Given the description of an element on the screen output the (x, y) to click on. 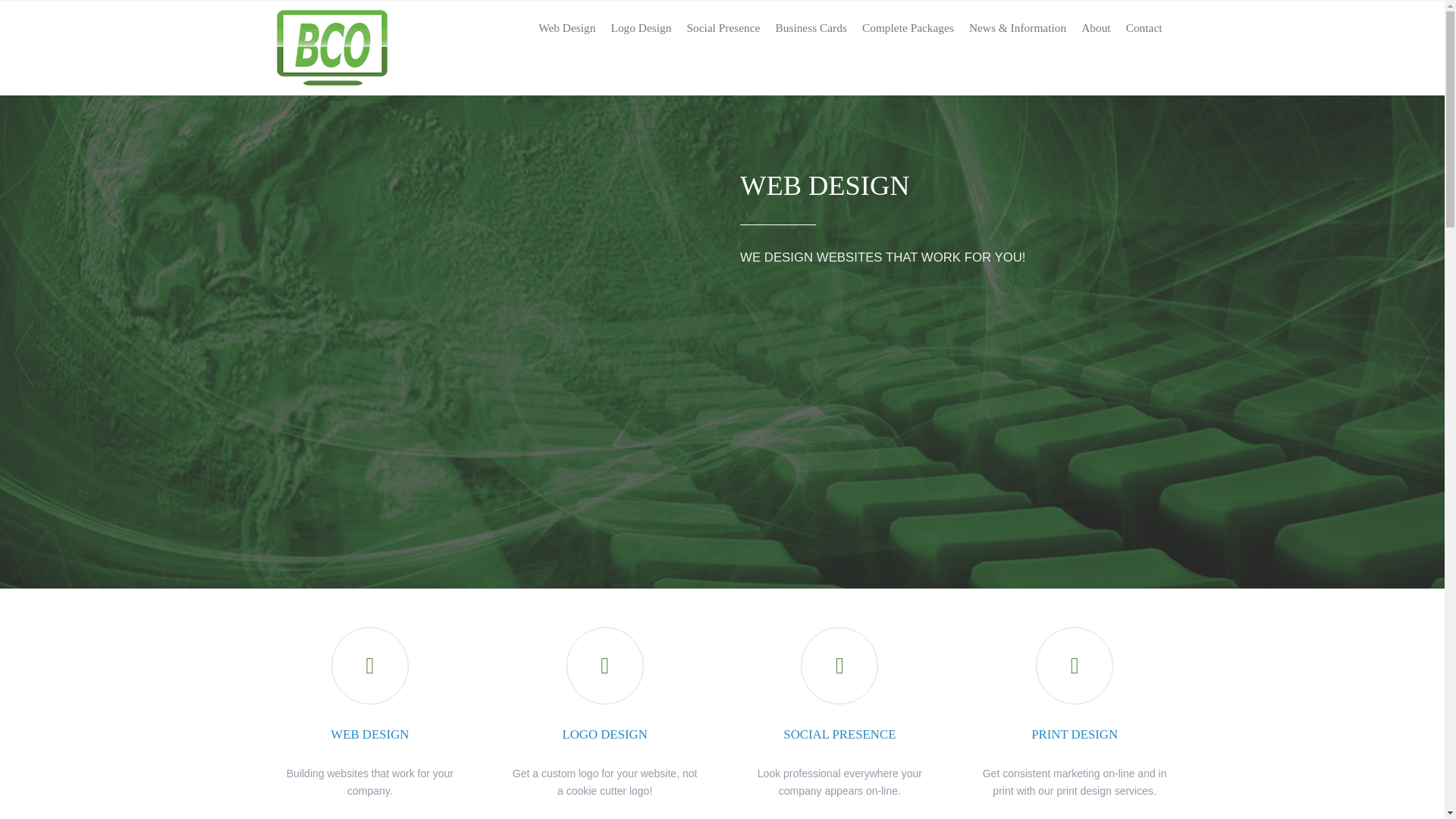
Social Presence (722, 28)
WEB DESIGN (369, 734)
LOGO DESIGN (604, 734)
Contact (1144, 28)
Complete Packages (907, 28)
Business Cards (810, 28)
SOCIAL PRESENCE (839, 734)
Logo Design (640, 28)
PRINT DESIGN (1074, 734)
About (1096, 28)
Web Design (566, 28)
